Given the description of an element on the screen output the (x, y) to click on. 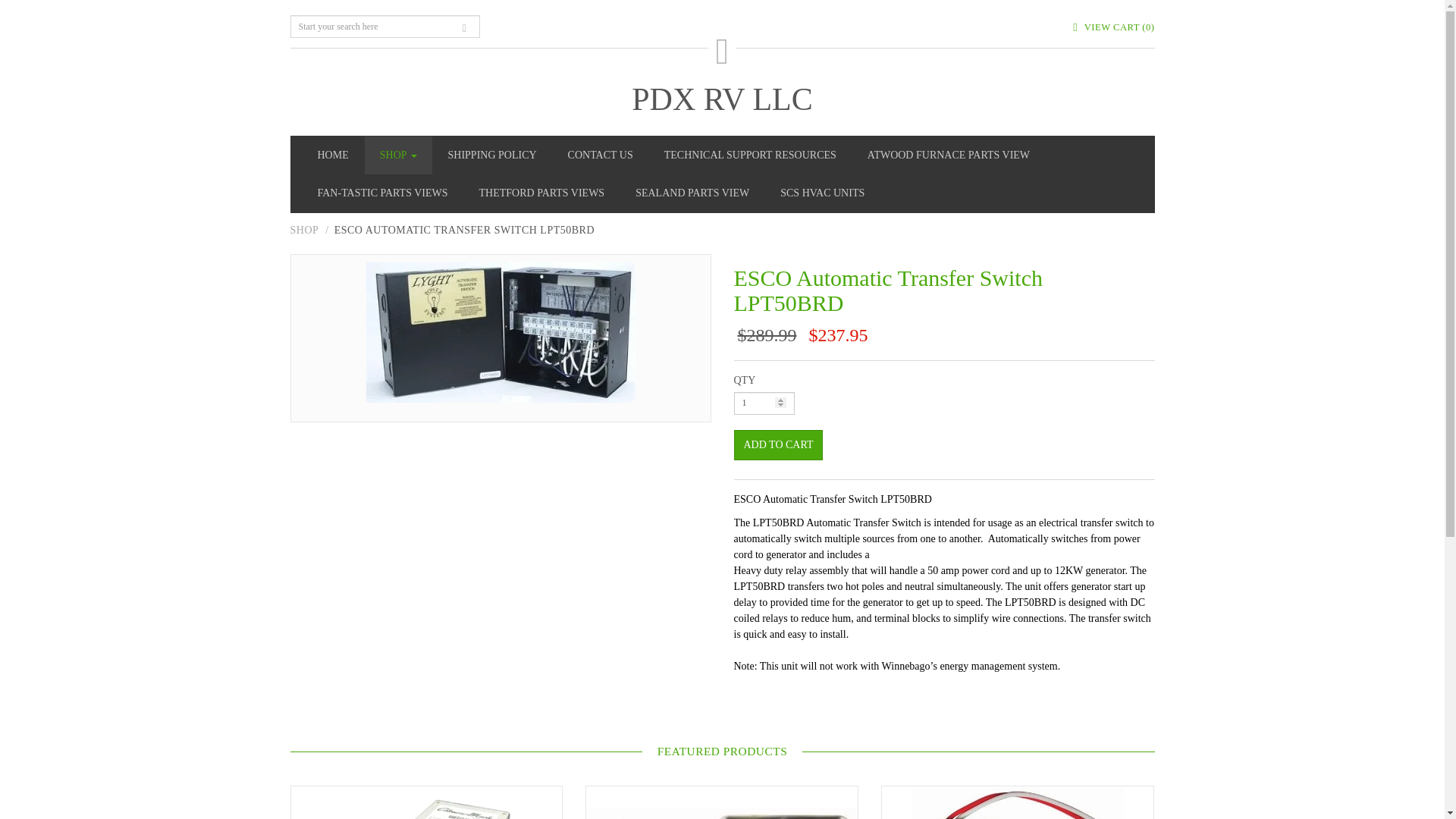
HOME (331, 155)
SHOP (398, 155)
PDX RV LLC (721, 99)
Add to Cart (778, 444)
1 (763, 403)
